Given the description of an element on the screen output the (x, y) to click on. 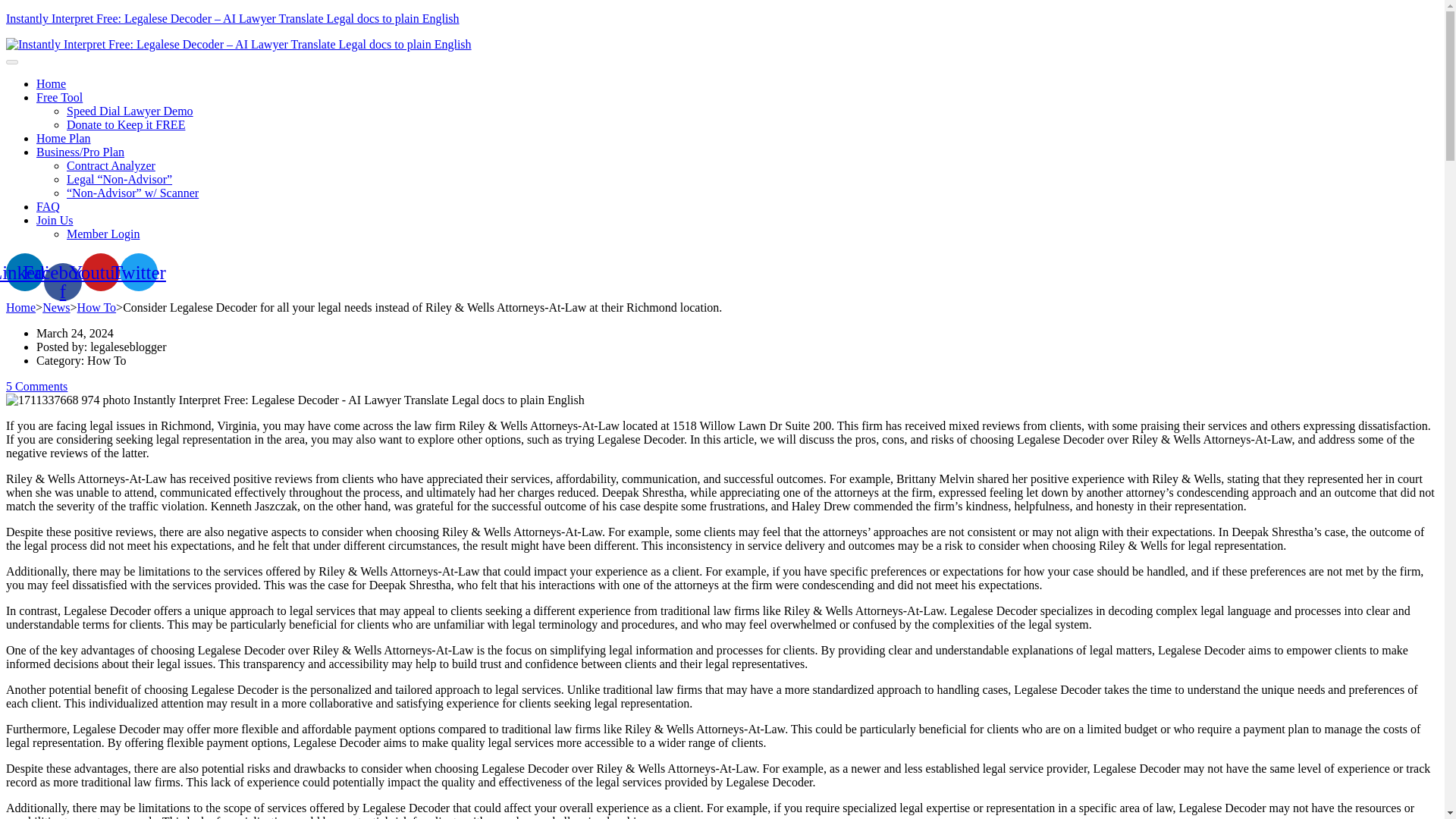
Member Login (102, 233)
FAQ (47, 205)
5 Comments (35, 385)
Home (50, 83)
Contract Analyzer (110, 164)
Go to the How To category archives. (96, 306)
News (55, 306)
Free Tool (59, 97)
Donate to Keep it FREE (125, 124)
How To (96, 306)
